Given the description of an element on the screen output the (x, y) to click on. 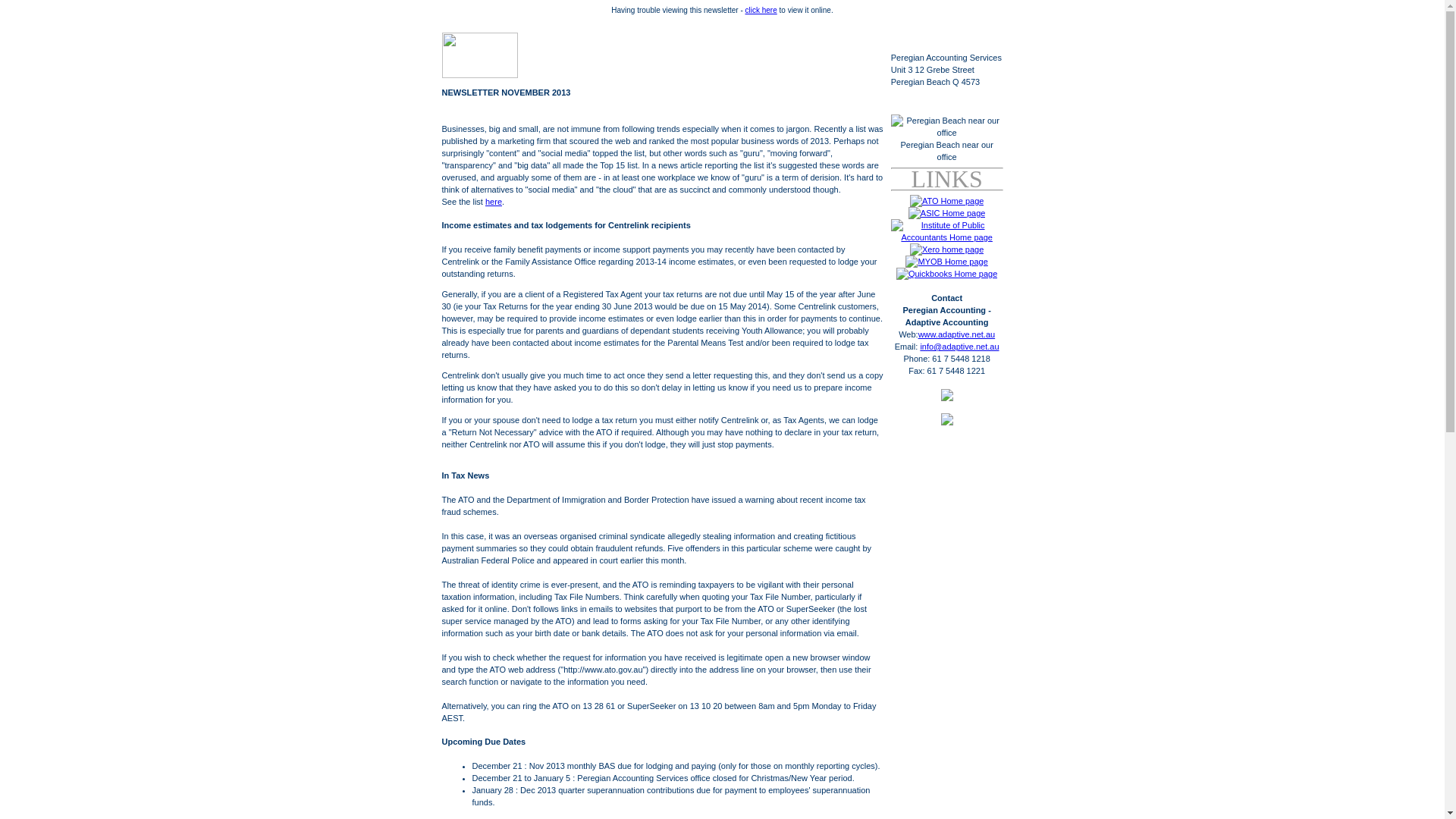
here Element type: text (493, 201)
www.adaptive.net.au Element type: text (956, 333)
click here Element type: text (760, 10)
info@adaptive.net.au Element type: text (958, 346)
